Given the description of an element on the screen output the (x, y) to click on. 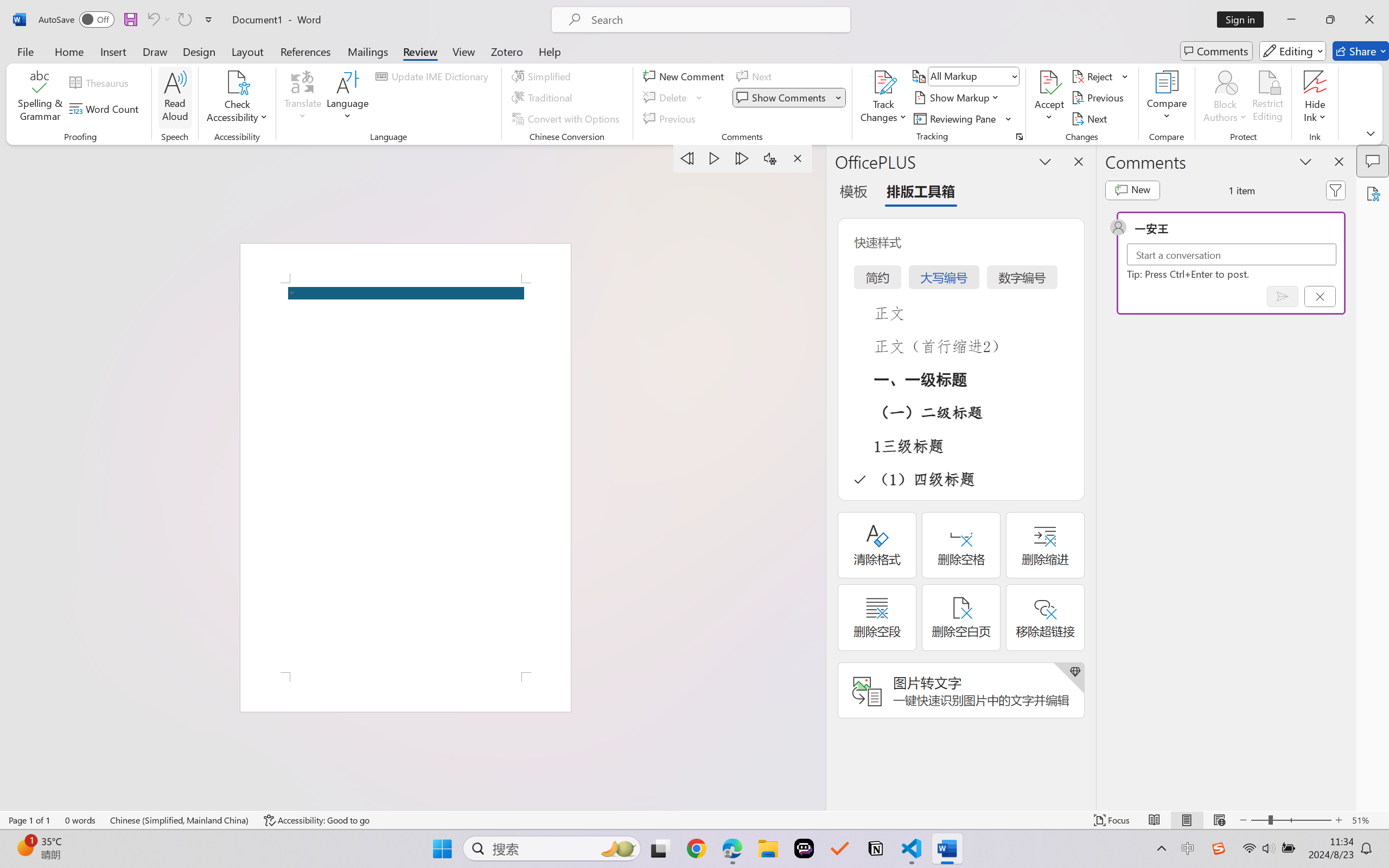
Accept and Move to Next (1049, 81)
Reject and Move to Next (1093, 75)
Sign in (1244, 19)
